Given the description of an element on the screen output the (x, y) to click on. 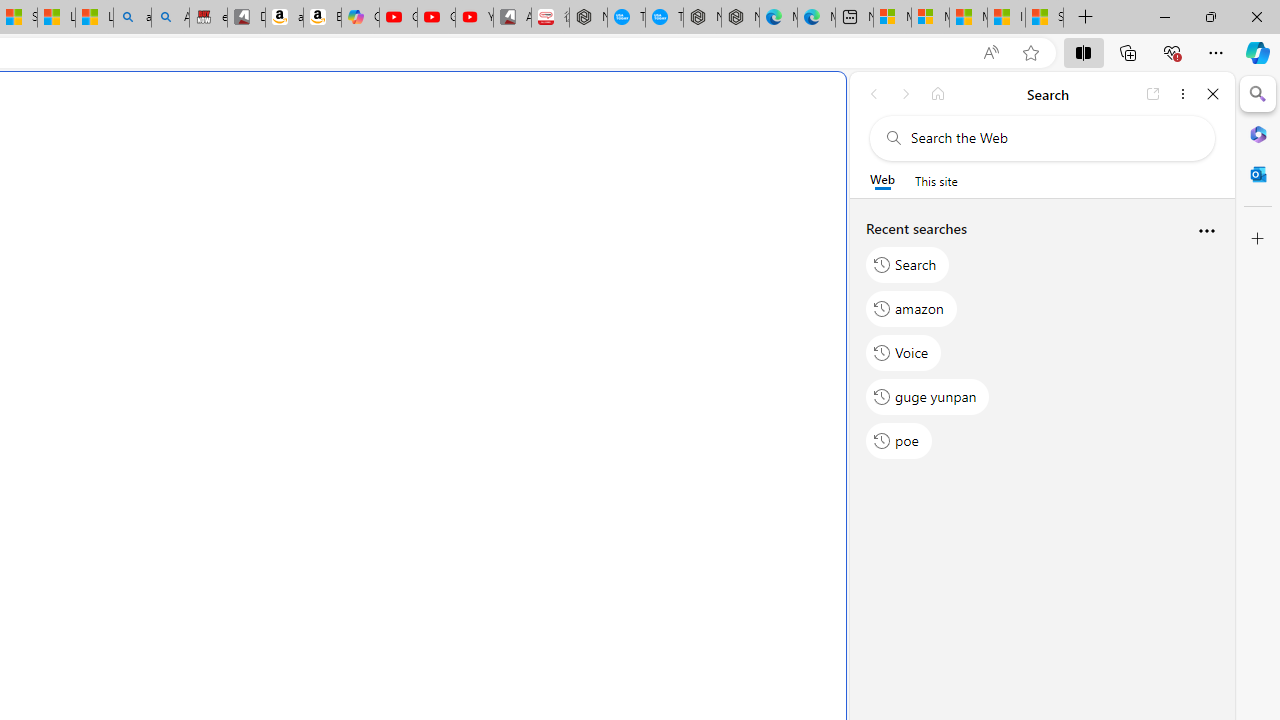
poe (898, 441)
Search the web (1051, 137)
The most popular Google 'how to' searches (664, 17)
amazon - Search (132, 17)
YouTube Kids - An App Created for Kids to Explore Content (473, 17)
Search (1258, 94)
Search (907, 264)
Customize (1258, 239)
This site scope (936, 180)
